Given the description of an element on the screen output the (x, y) to click on. 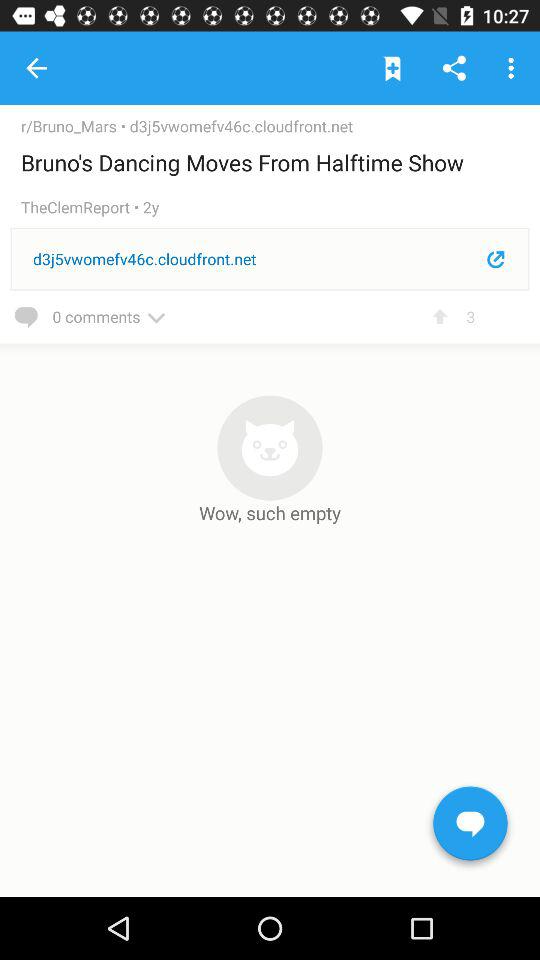
help chat (470, 827)
